Given the description of an element on the screen output the (x, y) to click on. 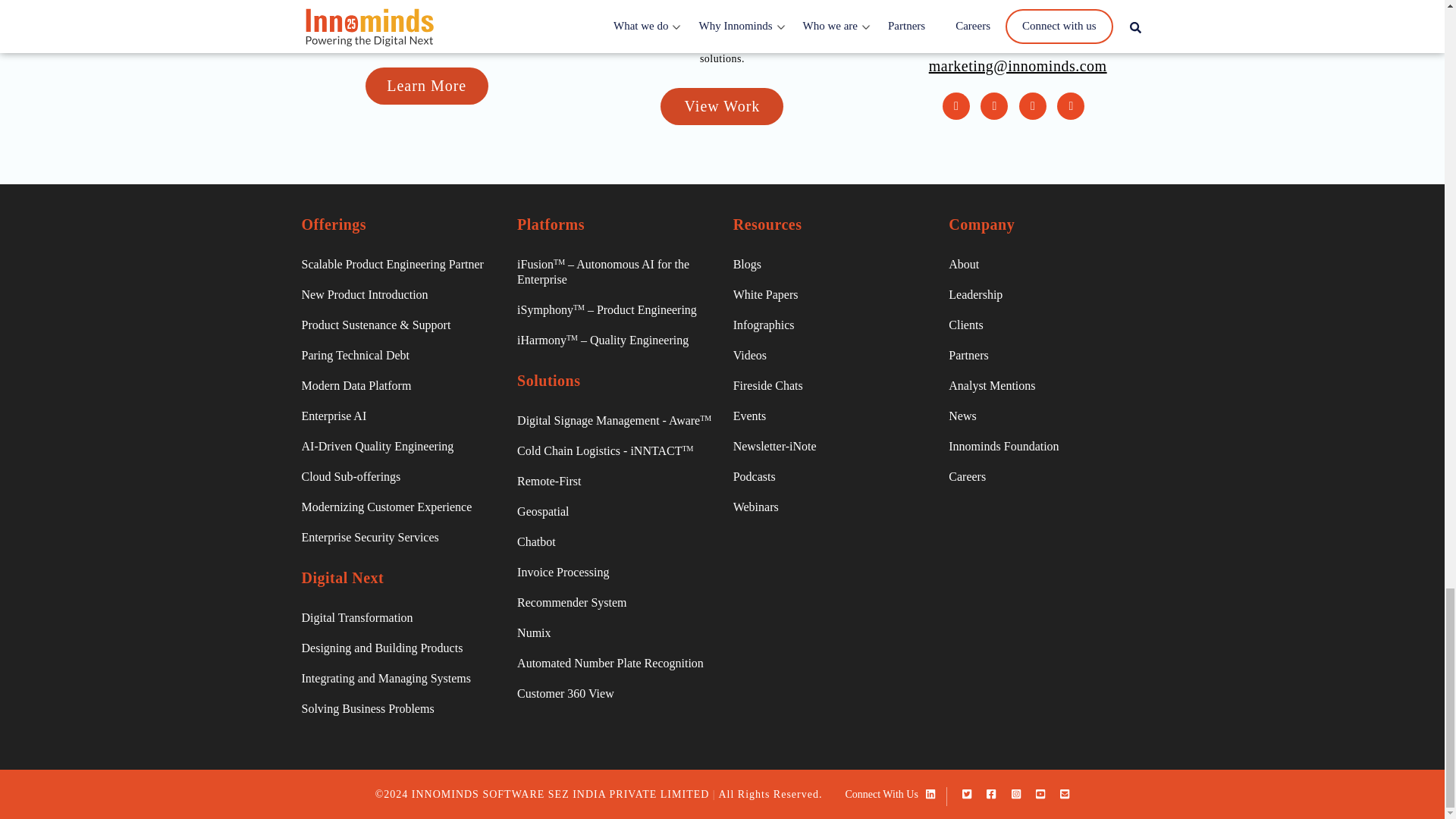
visit linkedin page (955, 105)
visit youtube page (1070, 105)
visit twitter page (993, 105)
visit facebook page (1032, 105)
